Given the description of an element on the screen output the (x, y) to click on. 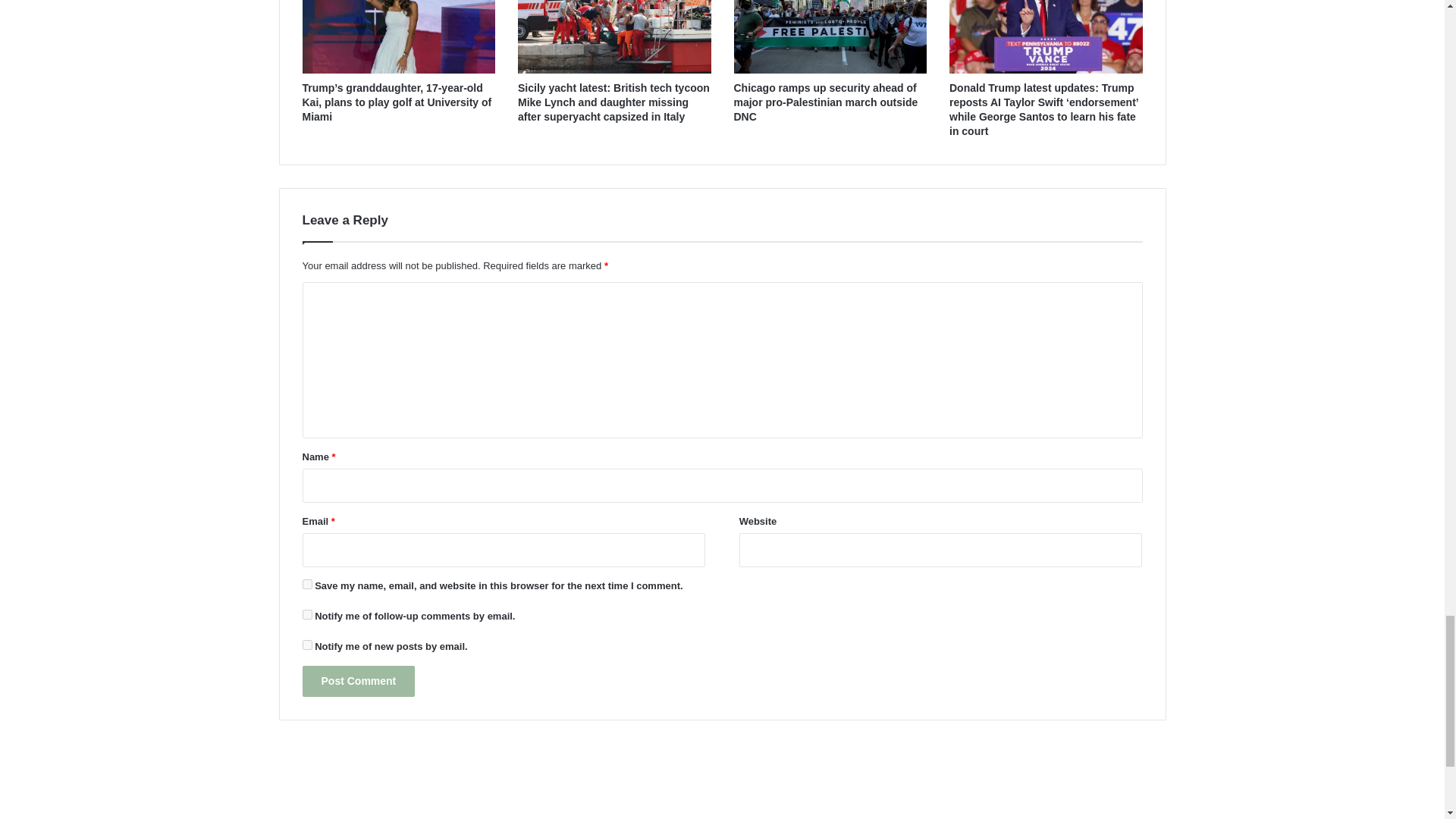
subscribe (306, 614)
yes (306, 583)
Post Comment (357, 680)
subscribe (306, 644)
